Given the description of an element on the screen output the (x, y) to click on. 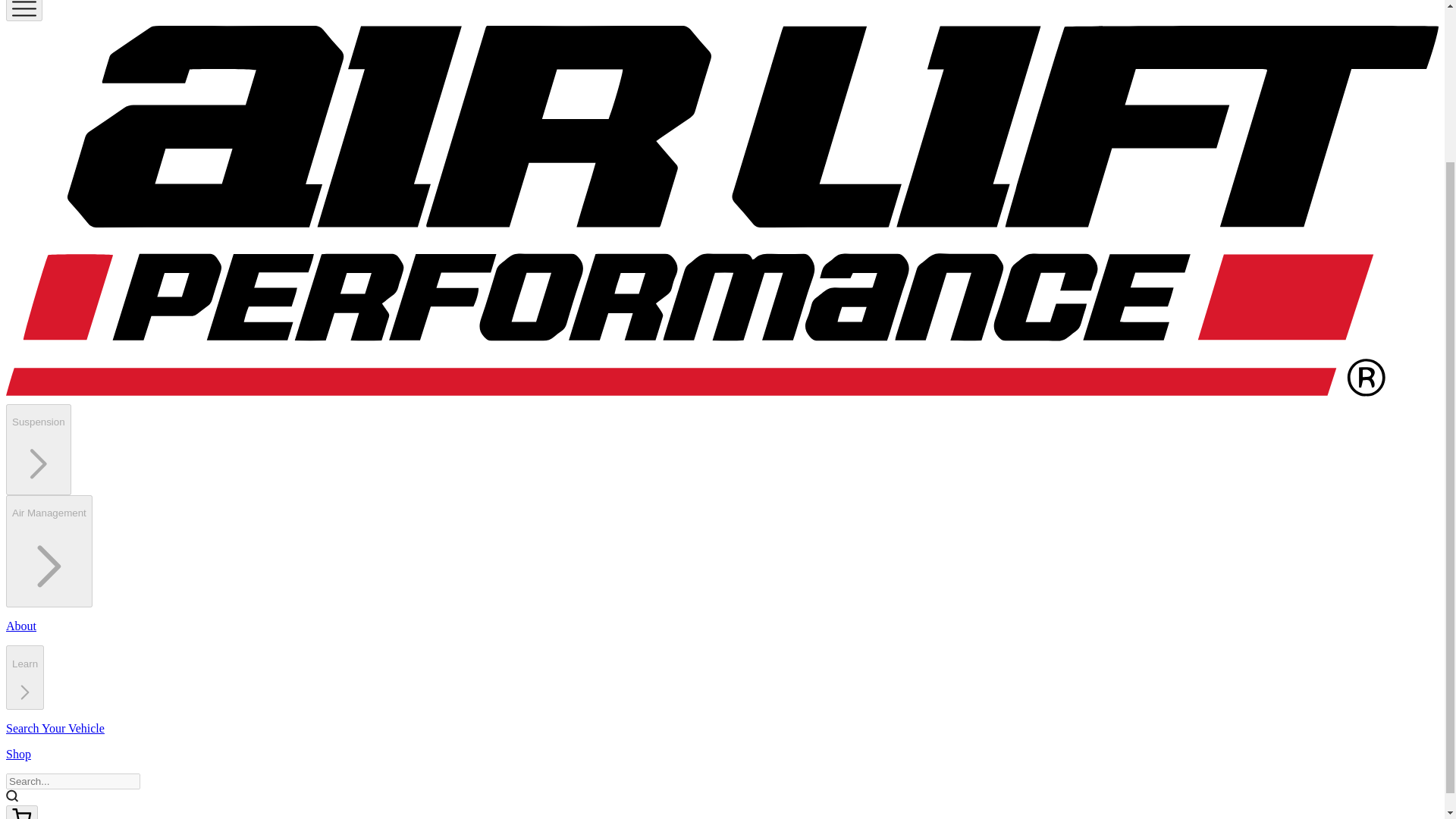
Suspension (38, 449)
Air Management (49, 551)
Learn (24, 677)
